Given the description of an element on the screen output the (x, y) to click on. 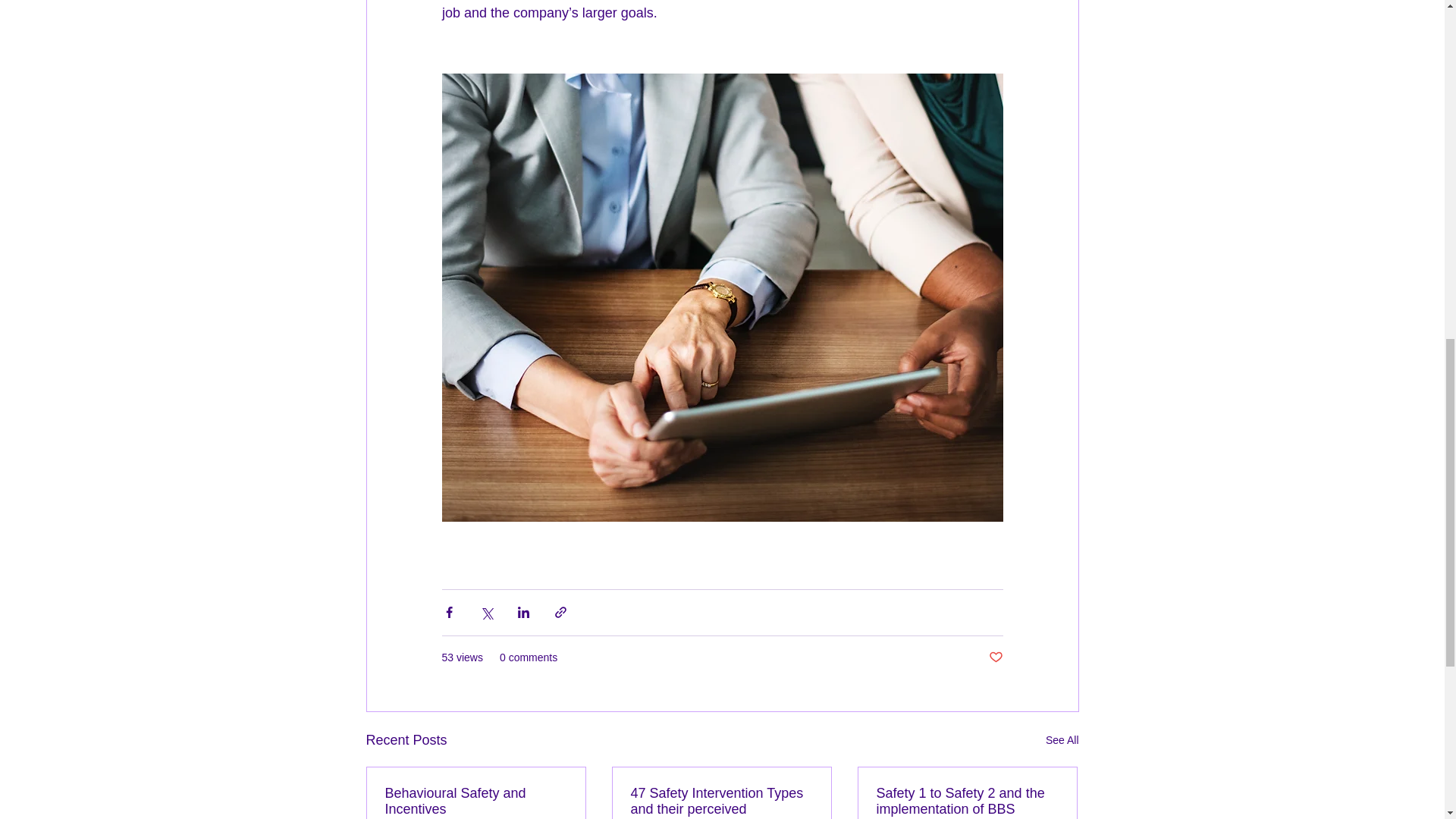
Safety 1 to Safety 2 and the implementation of BBS (967, 801)
See All (1061, 740)
Behavioural Safety and Incentives (476, 801)
Post not marked as liked (995, 657)
